Given the description of an element on the screen output the (x, y) to click on. 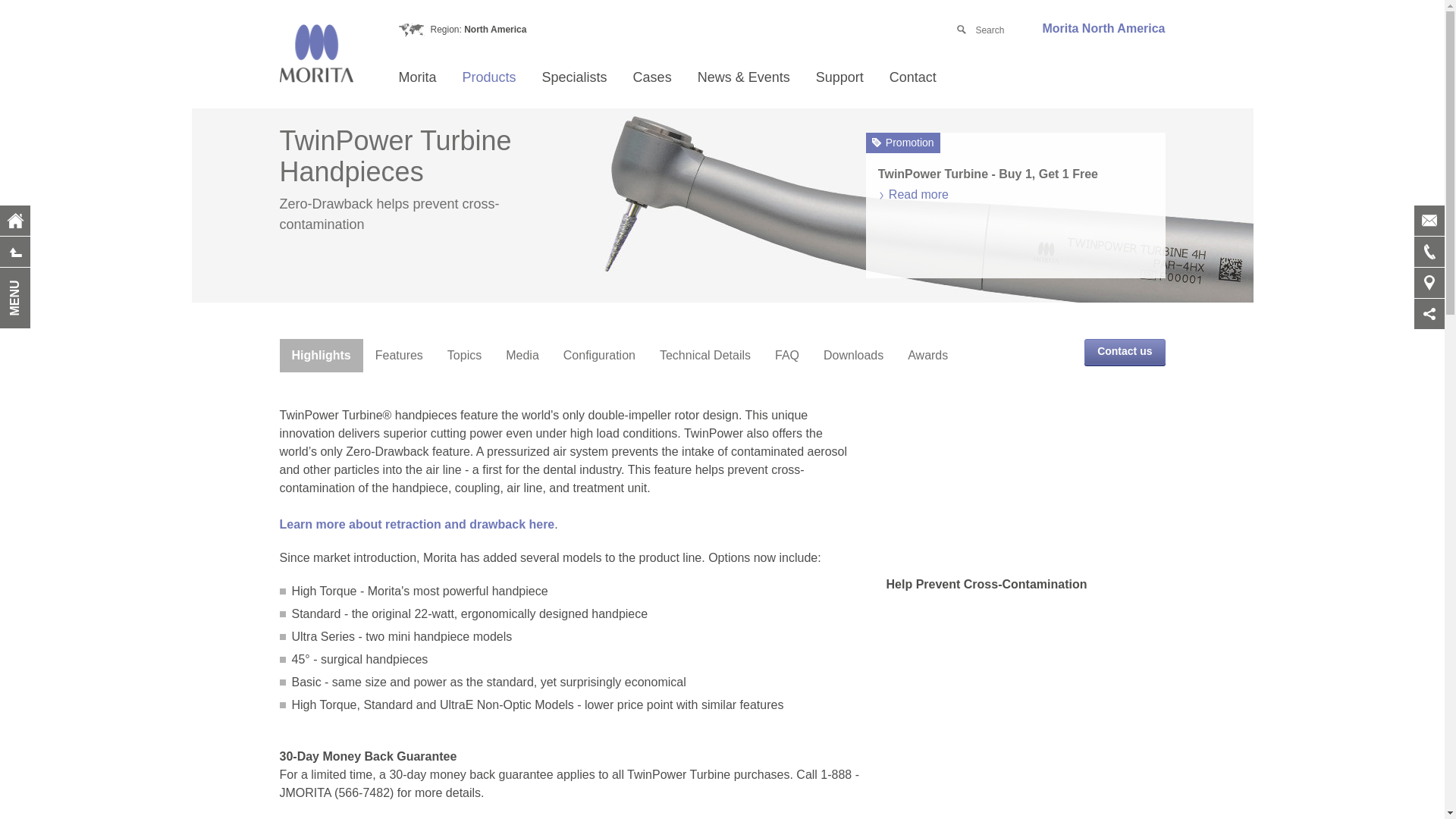
Contact (912, 76)
Strategy (499, 291)
Management (499, 220)
Morita Worldwide (499, 433)
Warranty Information (916, 184)
Laser Equipment (563, 245)
Safety Data Sheets (916, 113)
History (499, 326)
Endodontics (642, 139)
Contact Persons (990, 113)
